Given the description of an element on the screen output the (x, y) to click on. 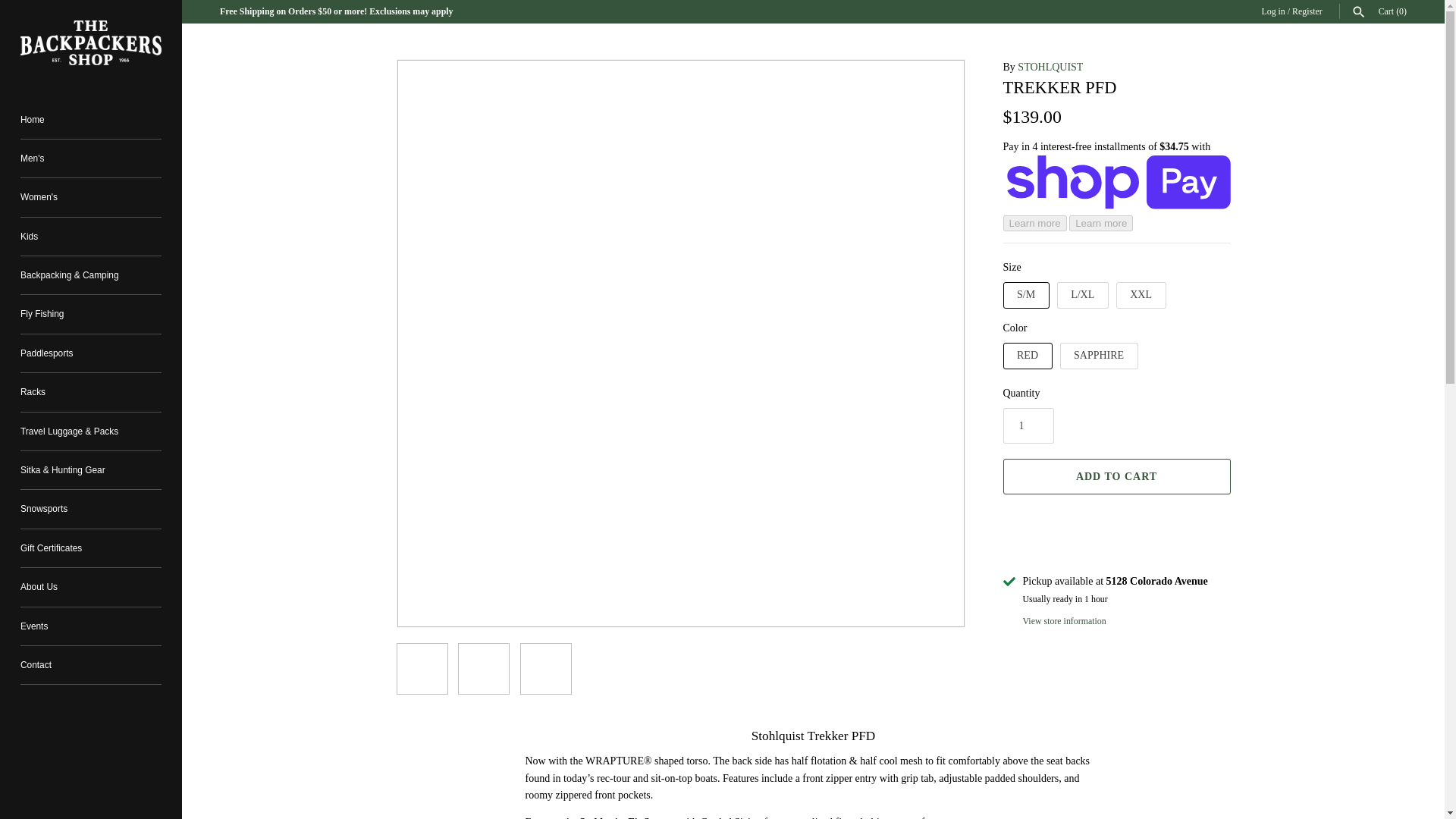
Log in (1272, 10)
Home (90, 118)
Men's (90, 158)
Register (1307, 10)
The Backpackers Shop (91, 42)
1 (1027, 425)
